Given the description of an element on the screen output the (x, y) to click on. 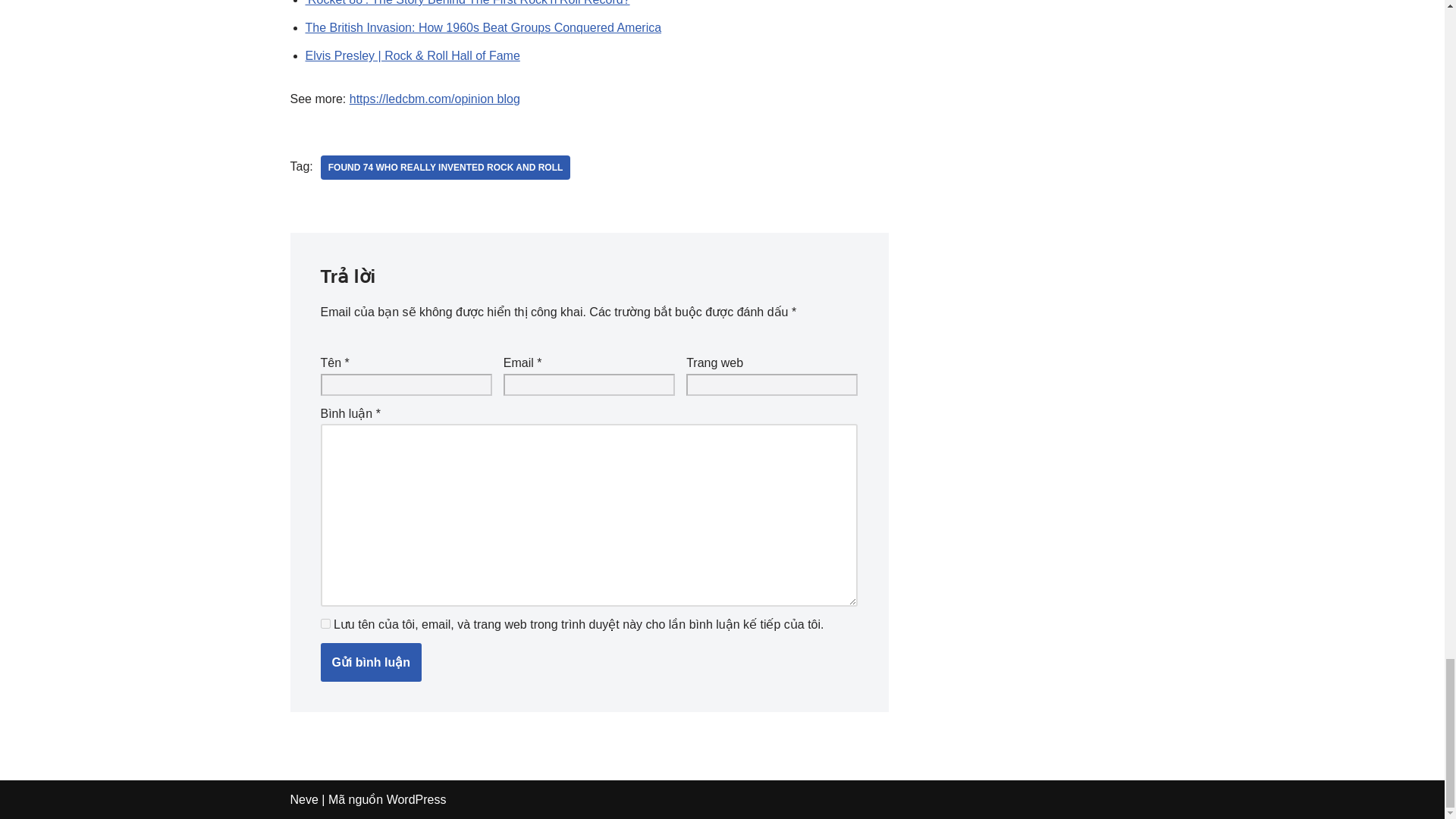
yes (325, 623)
Found 74 Who Really Invented Rock And Roll (445, 167)
FOUND 74 WHO REALLY INVENTED ROCK AND ROLL (445, 167)
